Given the description of an element on the screen output the (x, y) to click on. 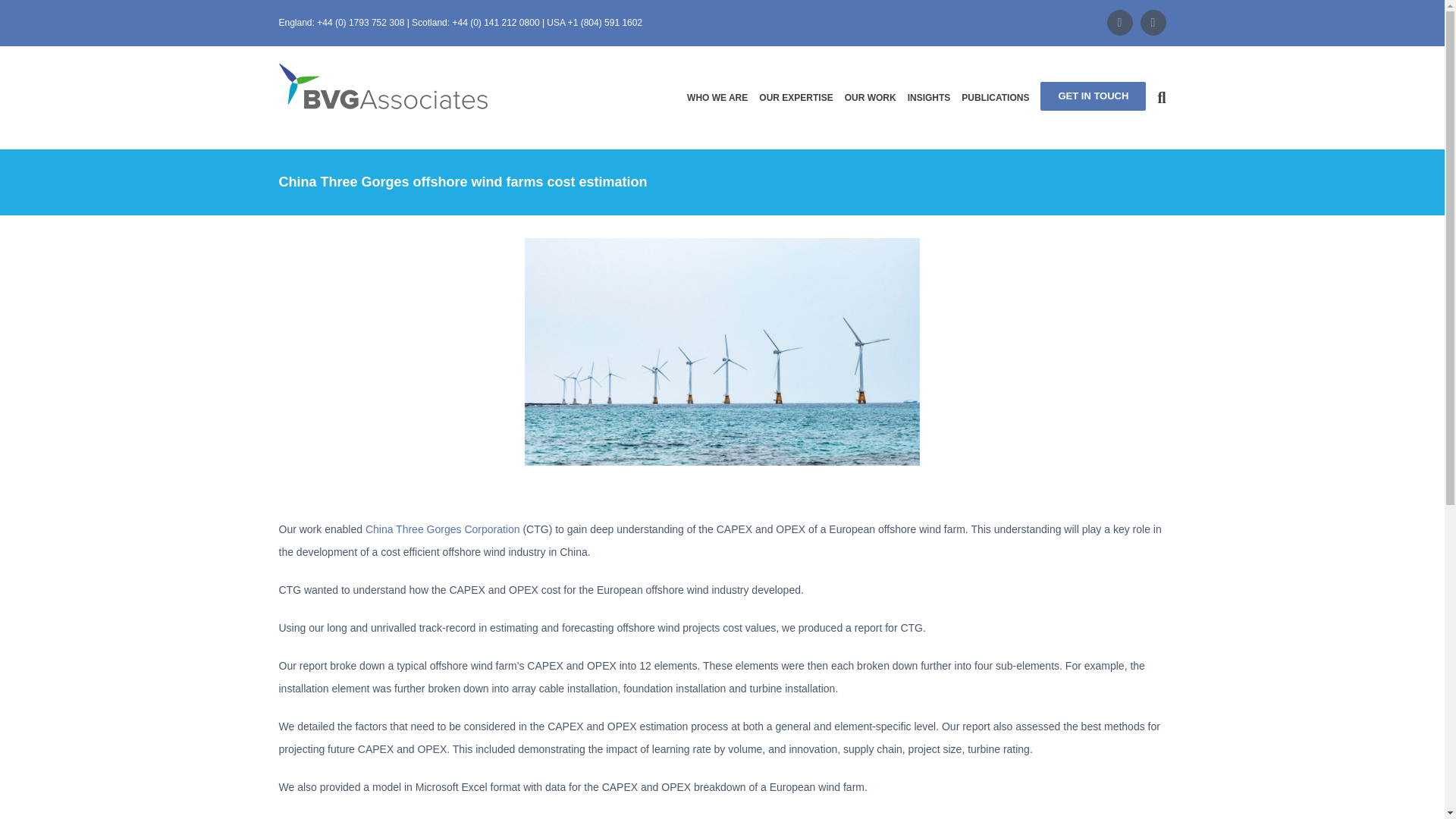
X (1119, 22)
LinkedIn (1153, 22)
GET IN TOUCH (1093, 96)
China Three Gorges Corporation (442, 529)
LinkedIn (1153, 22)
X (1119, 22)
